Given the description of an element on the screen output the (x, y) to click on. 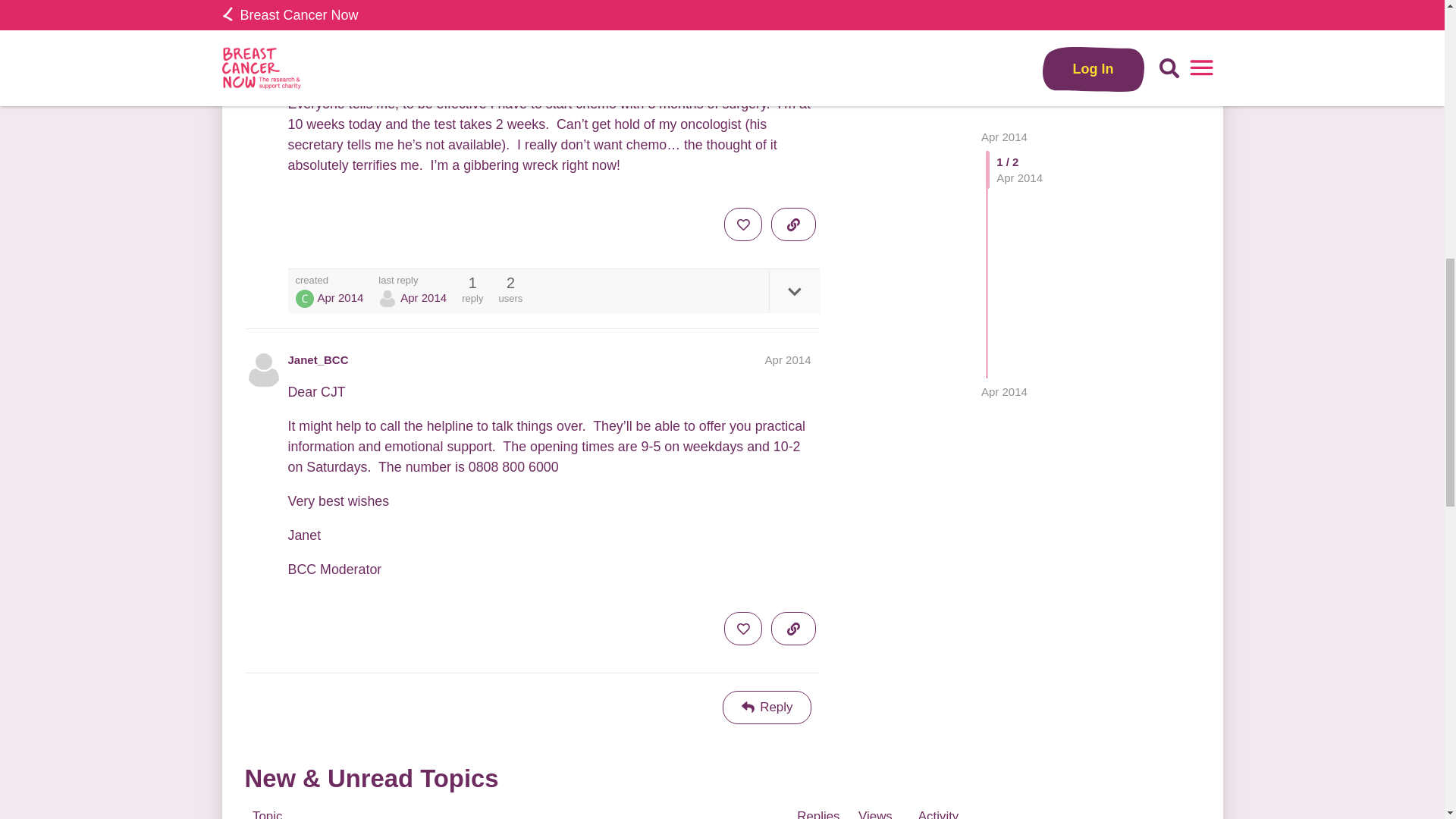
Apr 2014 (1004, 20)
copy a link to this post to clipboard (793, 224)
10 Apr 2014 21:25 (423, 297)
CJT (304, 298)
Post date (787, 359)
Apr 2014 (787, 359)
10 Apr 2014 21:25 (1004, 20)
last reply (412, 280)
expand topic details (793, 290)
Reply (767, 707)
10 Apr 2014 17:59 (339, 297)
like this post (742, 224)
